Given the description of an element on the screen output the (x, y) to click on. 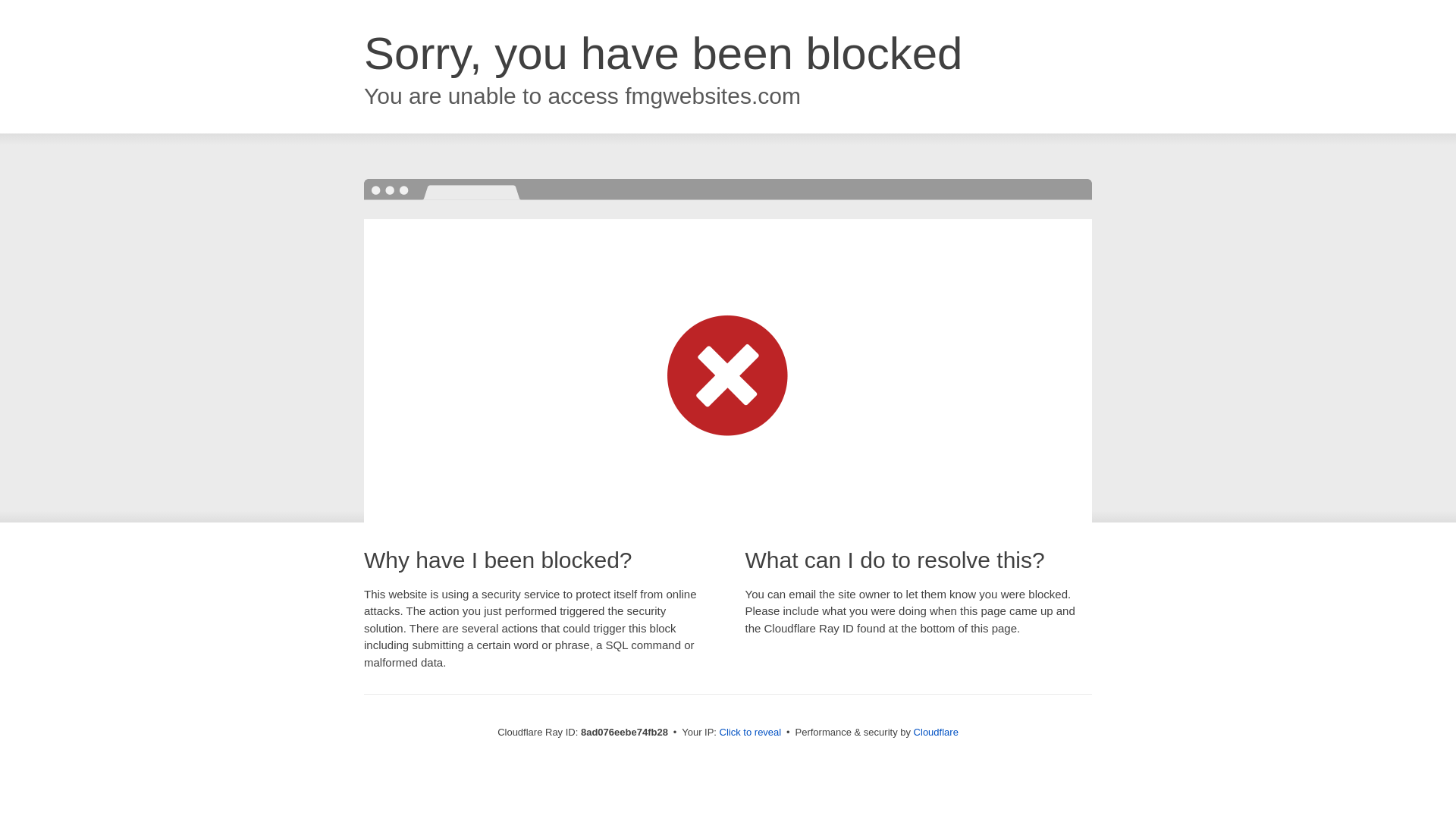
Click to reveal (750, 732)
Cloudflare (936, 731)
